Given the description of an element on the screen output the (x, y) to click on. 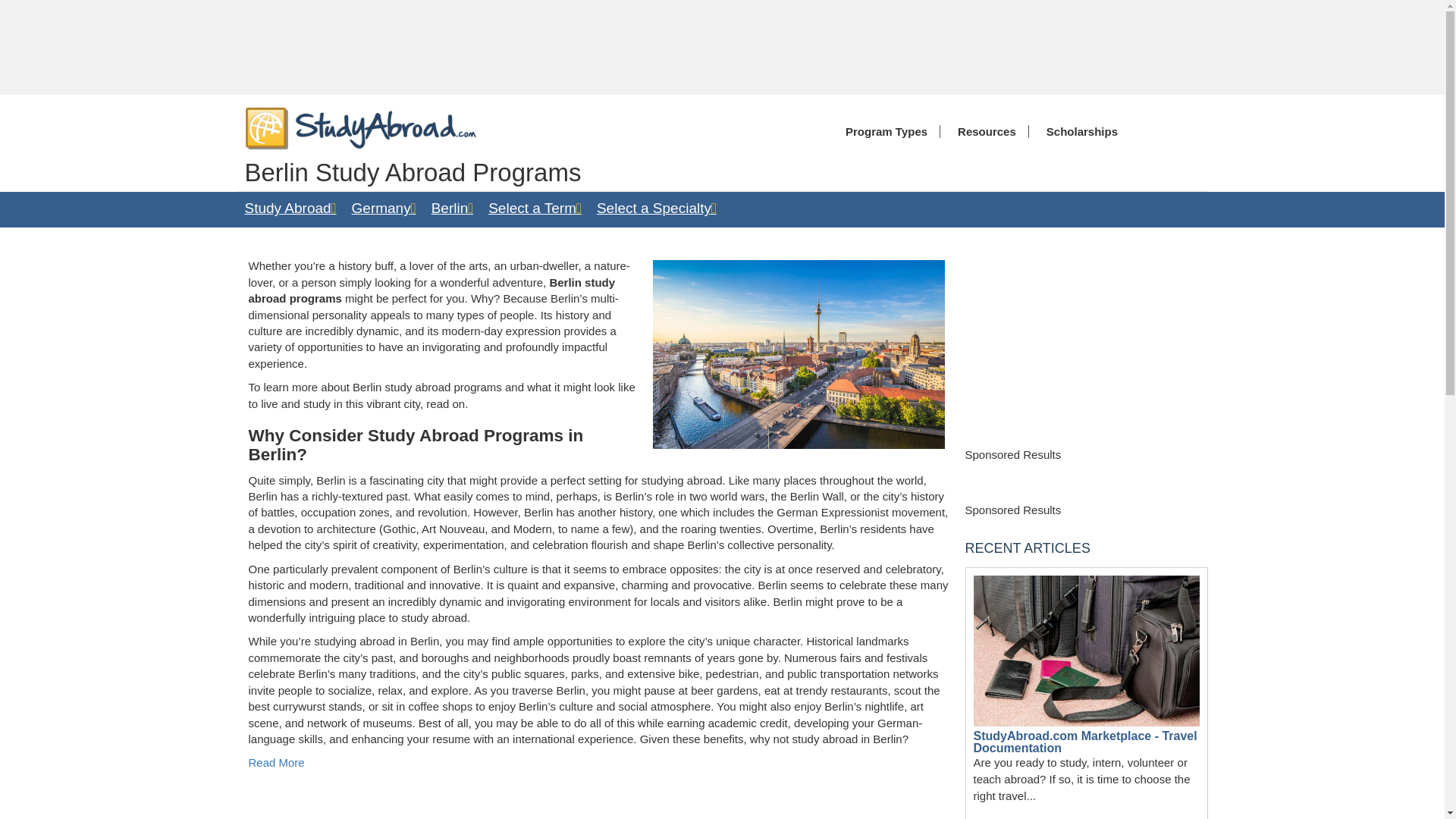
Resources (983, 131)
Study Abroad (290, 208)
Program Types (883, 131)
StudyAbroad.com (360, 126)
Germany (384, 208)
Scholarships (1078, 131)
